Given the description of an element on the screen output the (x, y) to click on. 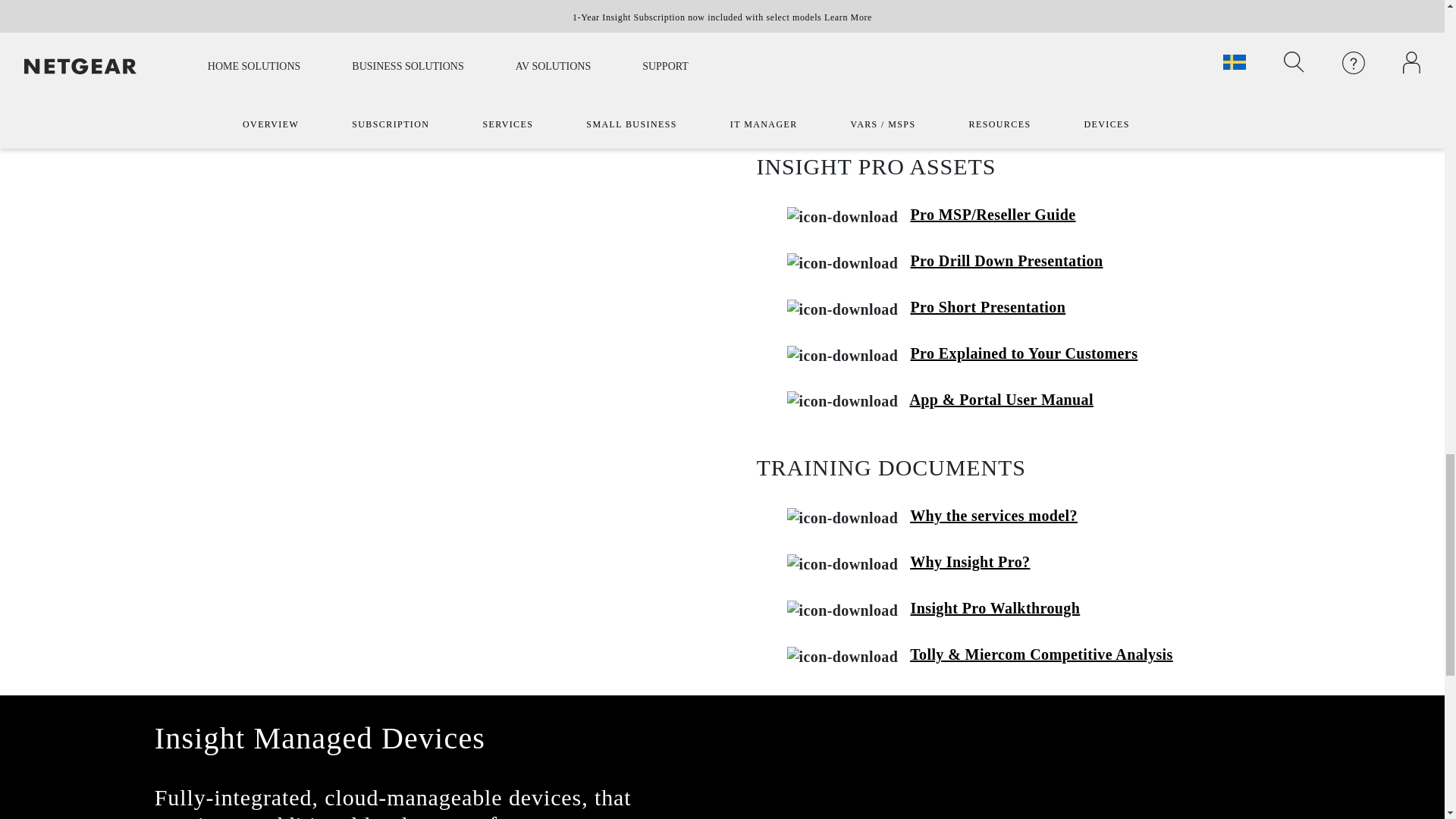
Insight Pro Drill Down Presentation (1006, 260)
